Given the description of an element on the screen output the (x, y) to click on. 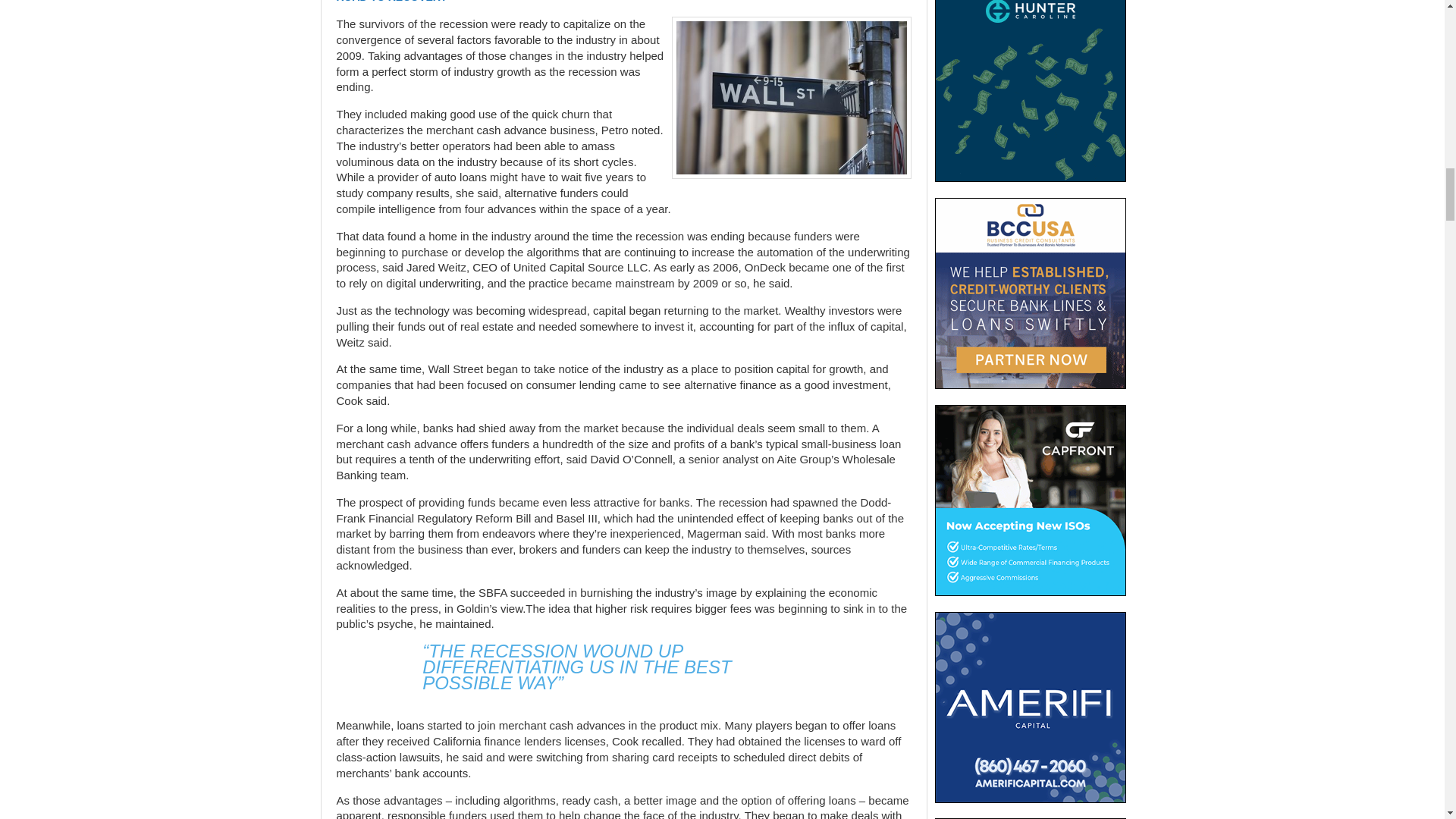
BCCUSA (1029, 293)
Hunter Caroline (1029, 90)
CapFront (1029, 500)
